Given the description of an element on the screen output the (x, y) to click on. 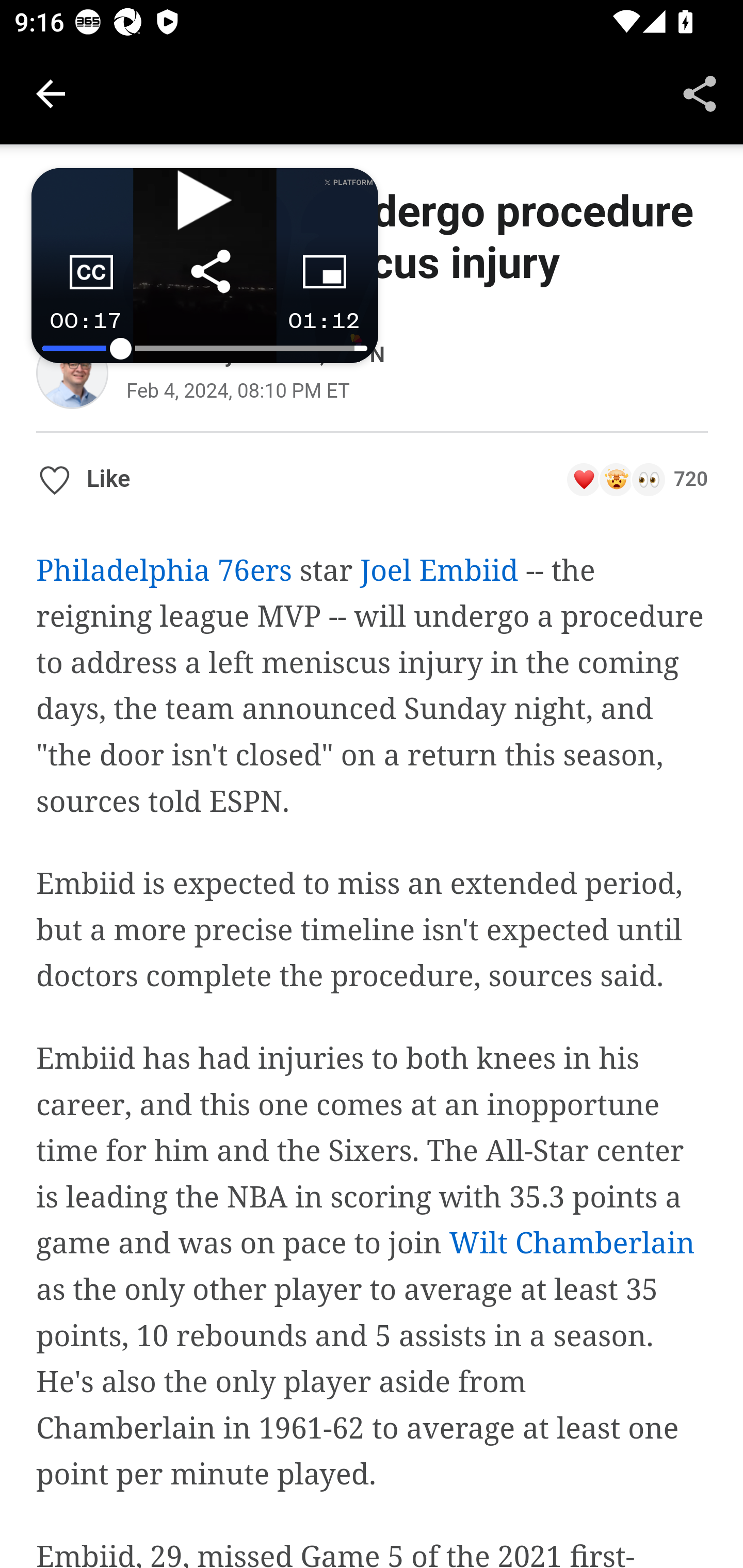
Navigate up (50, 93)
Share (699, 93)
